Given the description of an element on the screen output the (x, y) to click on. 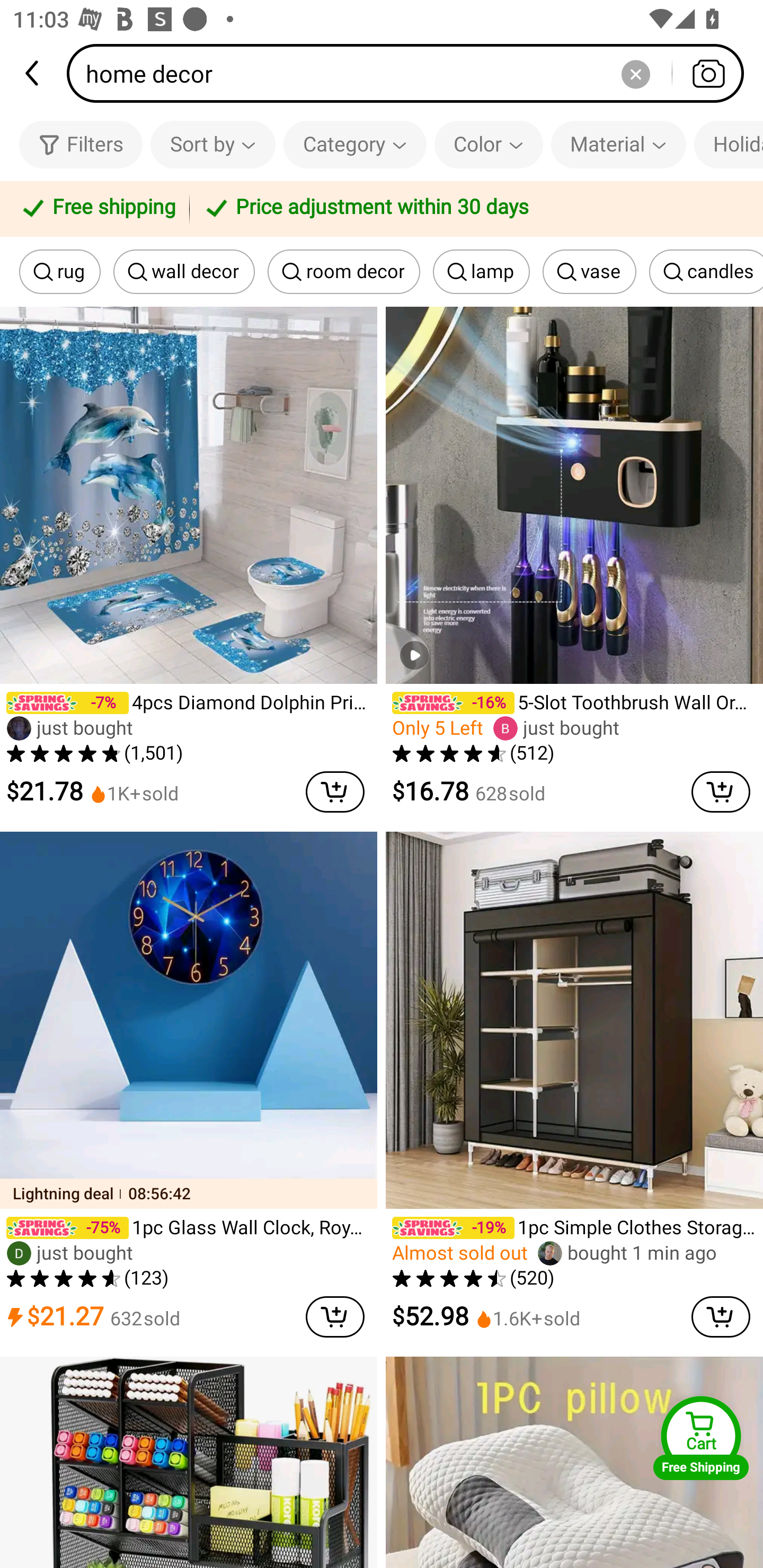
back (33, 72)
home decor (411, 73)
Delete search history (635, 73)
Search by photo (708, 73)
Filters (80, 143)
Sort by (212, 143)
Category (354, 143)
Color (488, 143)
Material (617, 143)
Free shipping (97, 208)
Price adjustment within 30 days (472, 208)
rug (59, 271)
wall decor (183, 271)
room decor (343, 271)
lamp (480, 271)
vase (589, 271)
candles (706, 271)
cart delete (334, 791)
cart delete (720, 791)
cart delete (334, 1316)
cart delete (720, 1316)
Cart Free Shipping Cart (701, 1437)
